Given the description of an element on the screen output the (x, y) to click on. 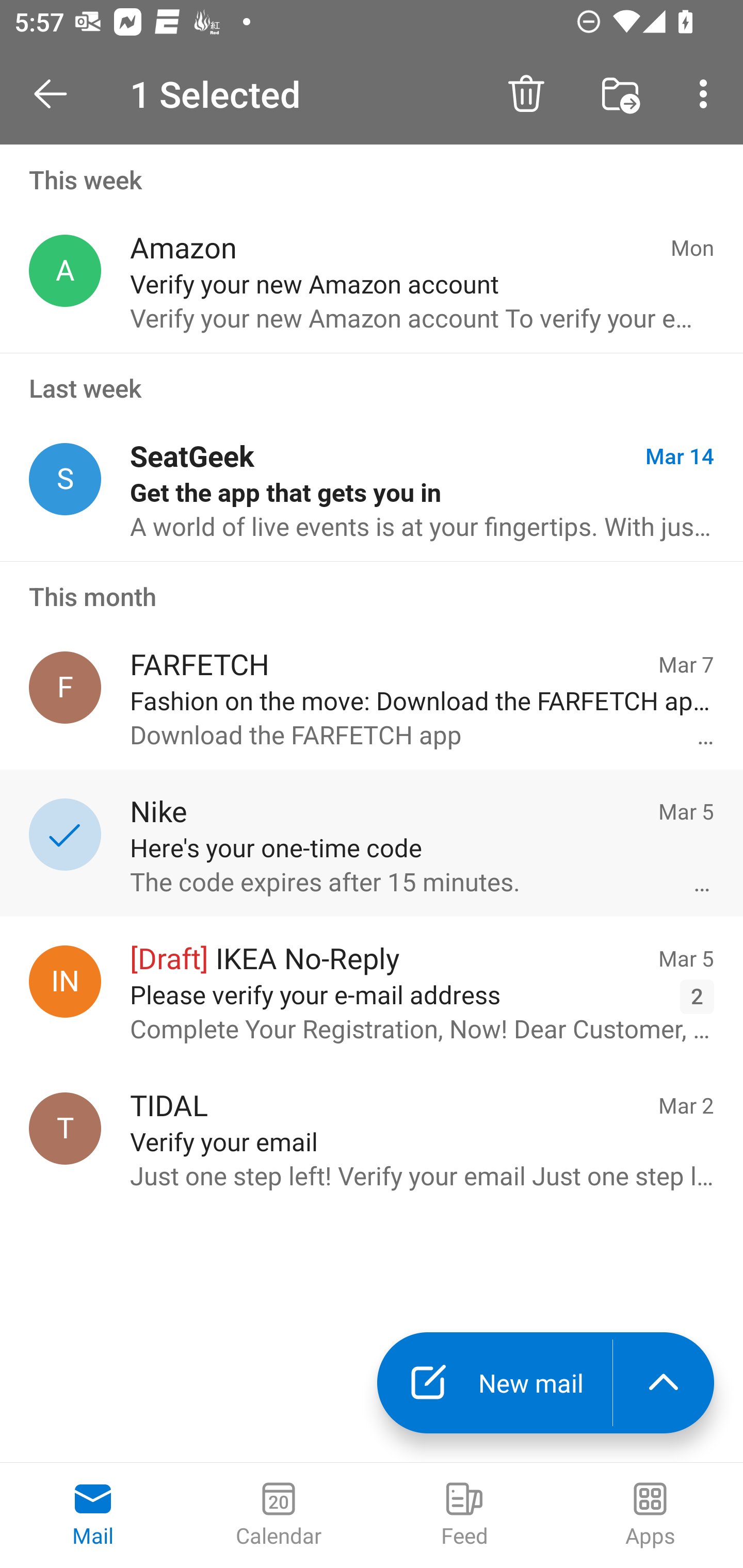
Delete (525, 93)
Empty Deleted (612, 93)
Search, ,  (699, 93)
Open Navigation Drawer (57, 94)
Amazon, account-update@amazon.com (64, 271)
SeatGeek, events@seatgeek.com (64, 479)
FARFETCH, farfetch@email.farfetch.com (64, 687)
IKEA No-Reply, noreply@ikea.com.hk (64, 981)
TIDAL, account@info.tidal.com (64, 1128)
New mail (494, 1382)
launch the extended action menu (663, 1382)
Calendar (278, 1515)
Feed (464, 1515)
Apps (650, 1515)
